Given the description of an element on the screen output the (x, y) to click on. 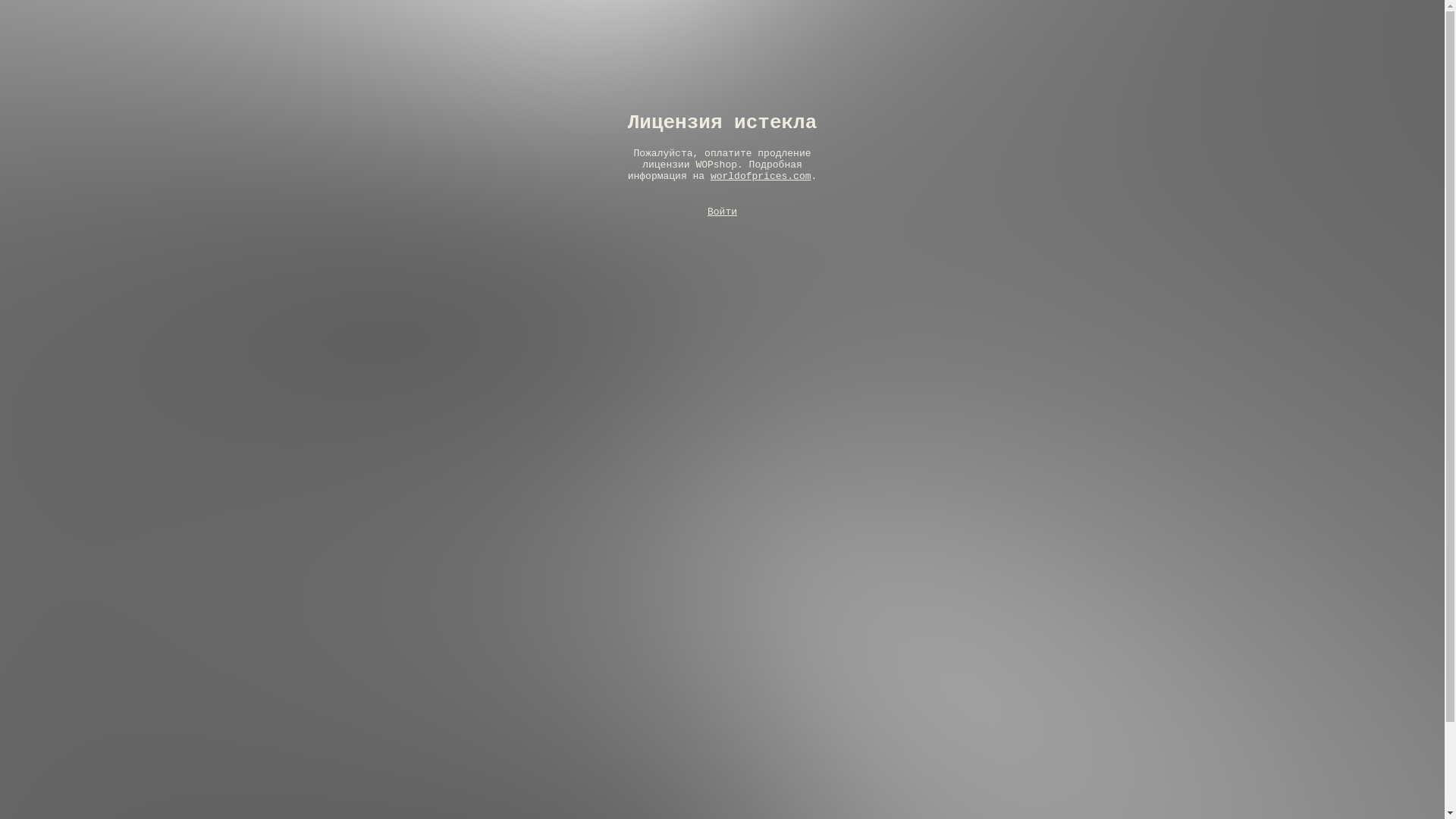
worldofprices.com Element type: text (760, 176)
